Given the description of an element on the screen output the (x, y) to click on. 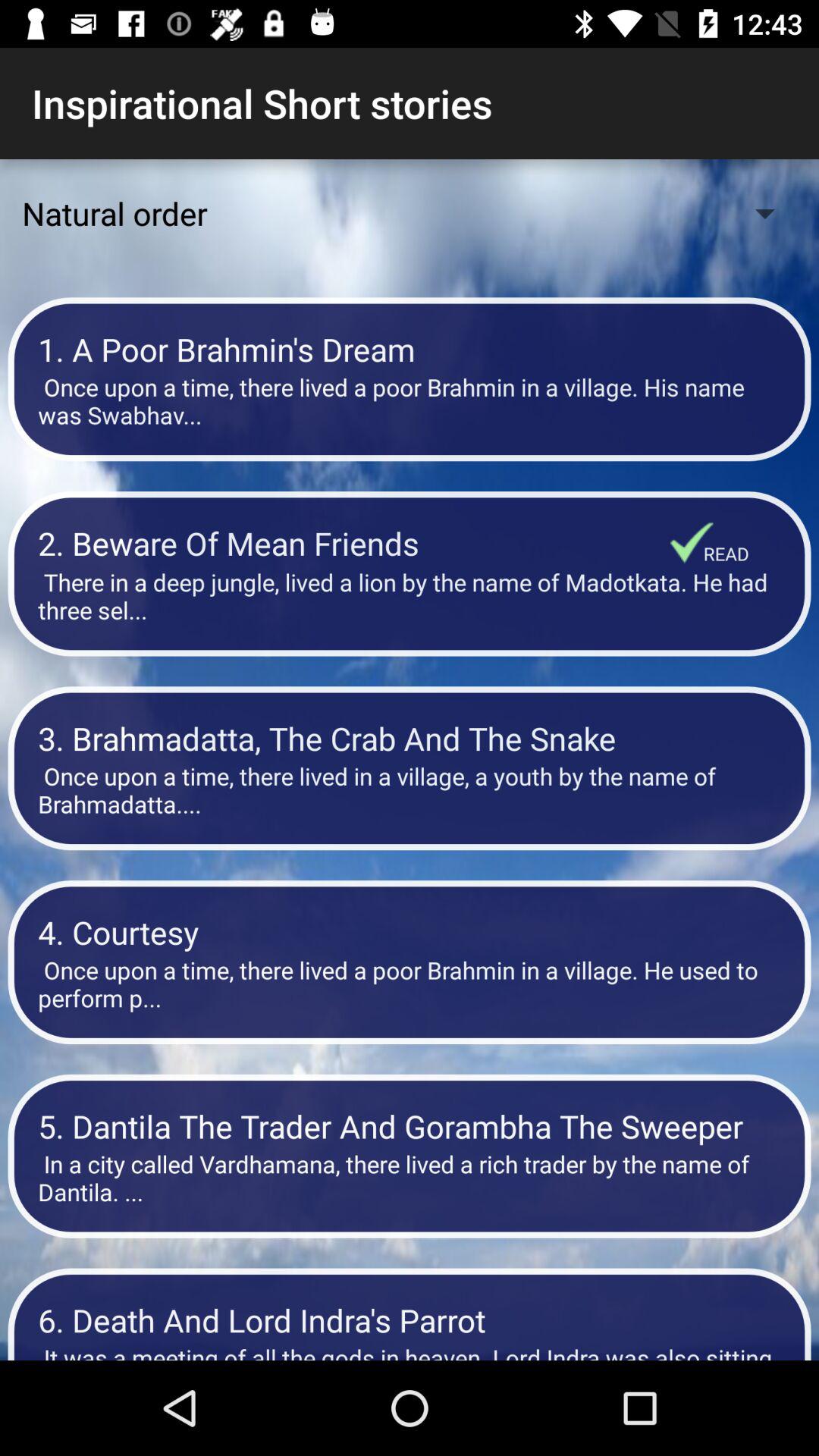
choose the icon to the right of the 2 beware of item (726, 553)
